Given the description of an element on the screen output the (x, y) to click on. 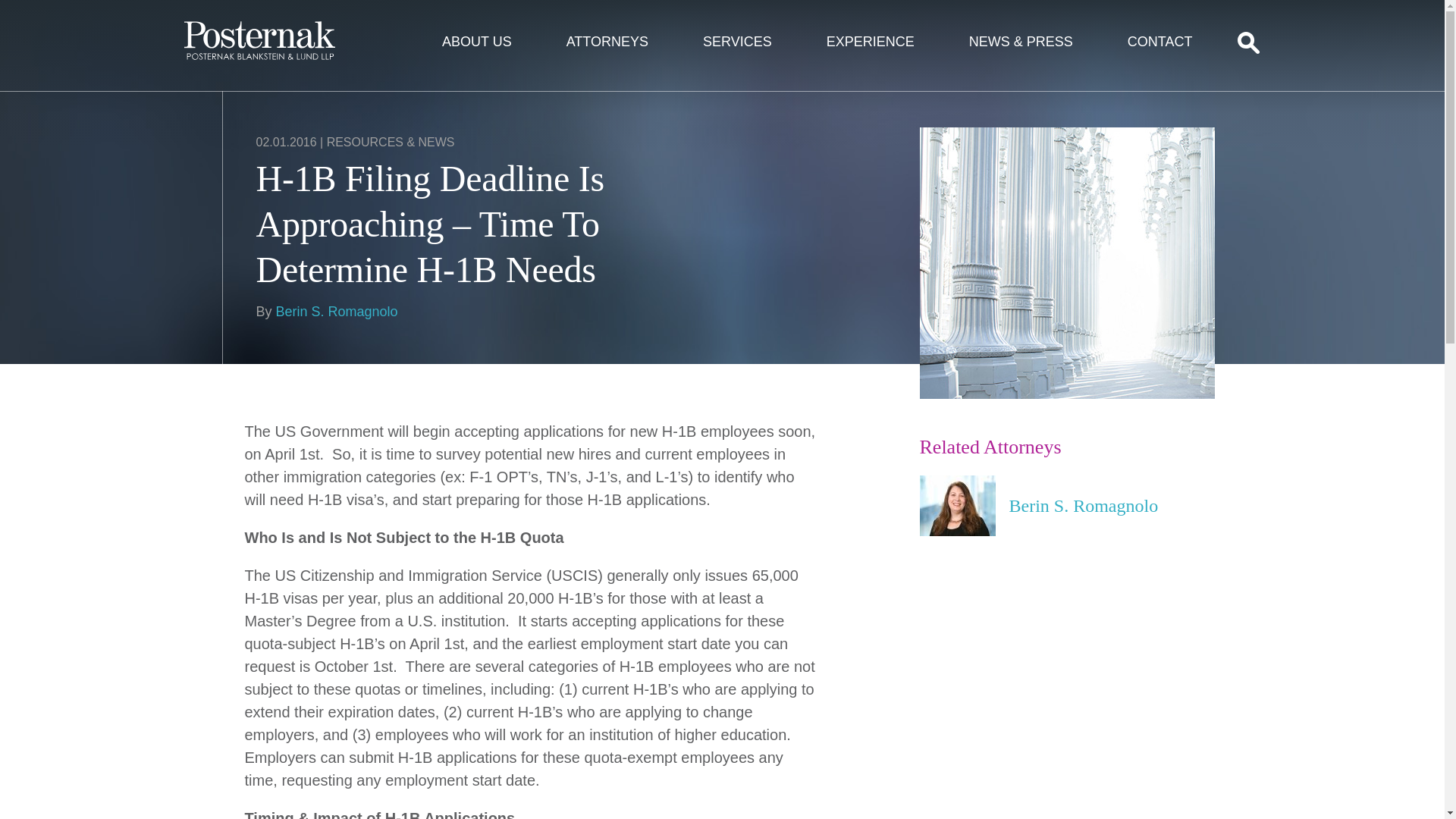
Berin S. Romagnolo (336, 311)
ATTORNEYS (606, 42)
Berin S. Romagnolo (1066, 505)
ABOUT US (476, 42)
SERVICES (737, 42)
EXPERIENCE (870, 42)
CONTACT (1160, 42)
